Given the description of an element on the screen output the (x, y) to click on. 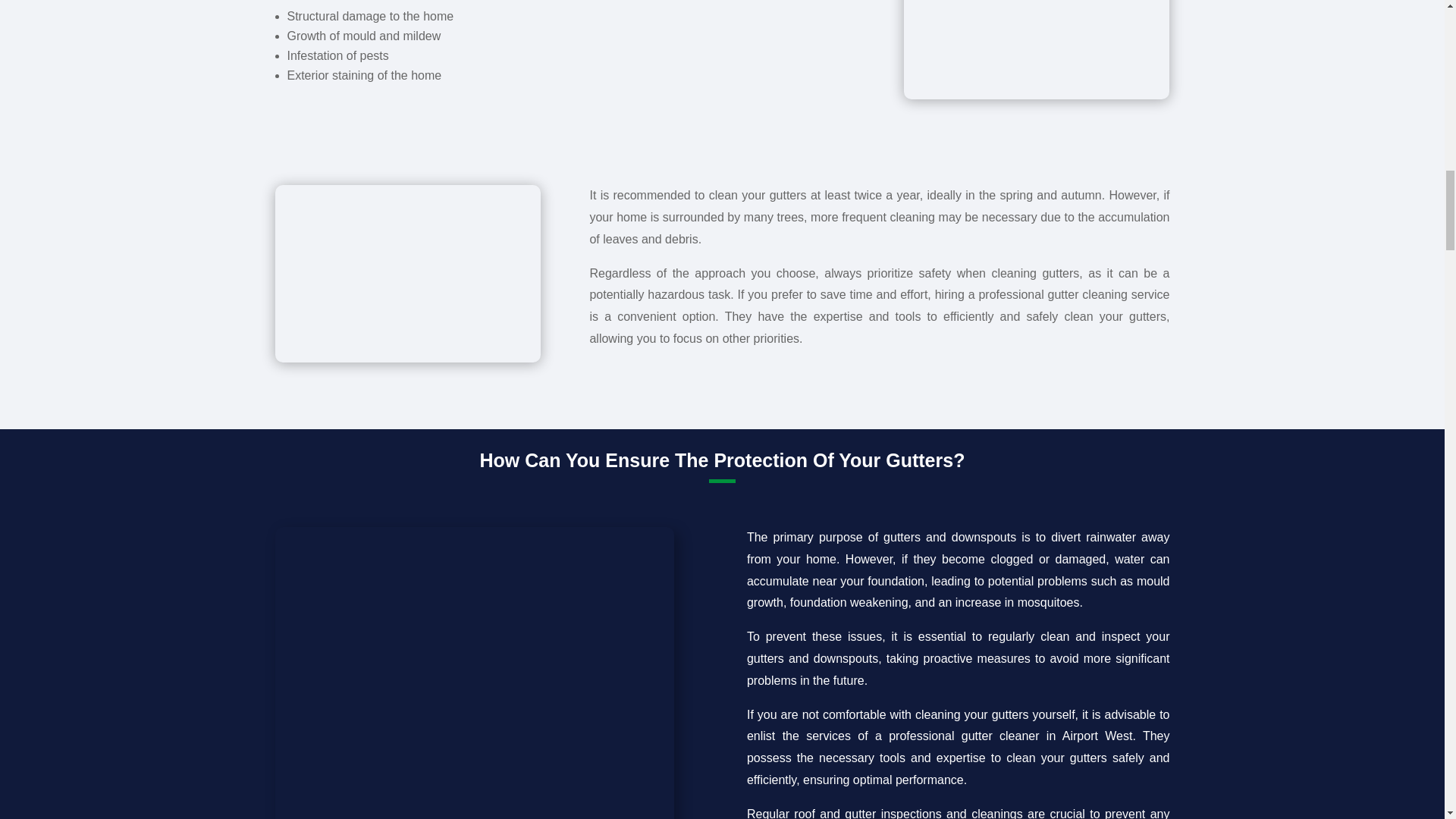
gutter clean (1036, 49)
Regal Gutter Cleaning-min (473, 673)
Gutter-Cleaning-Services-Melbourne-img (407, 273)
